Given the description of an element on the screen output the (x, y) to click on. 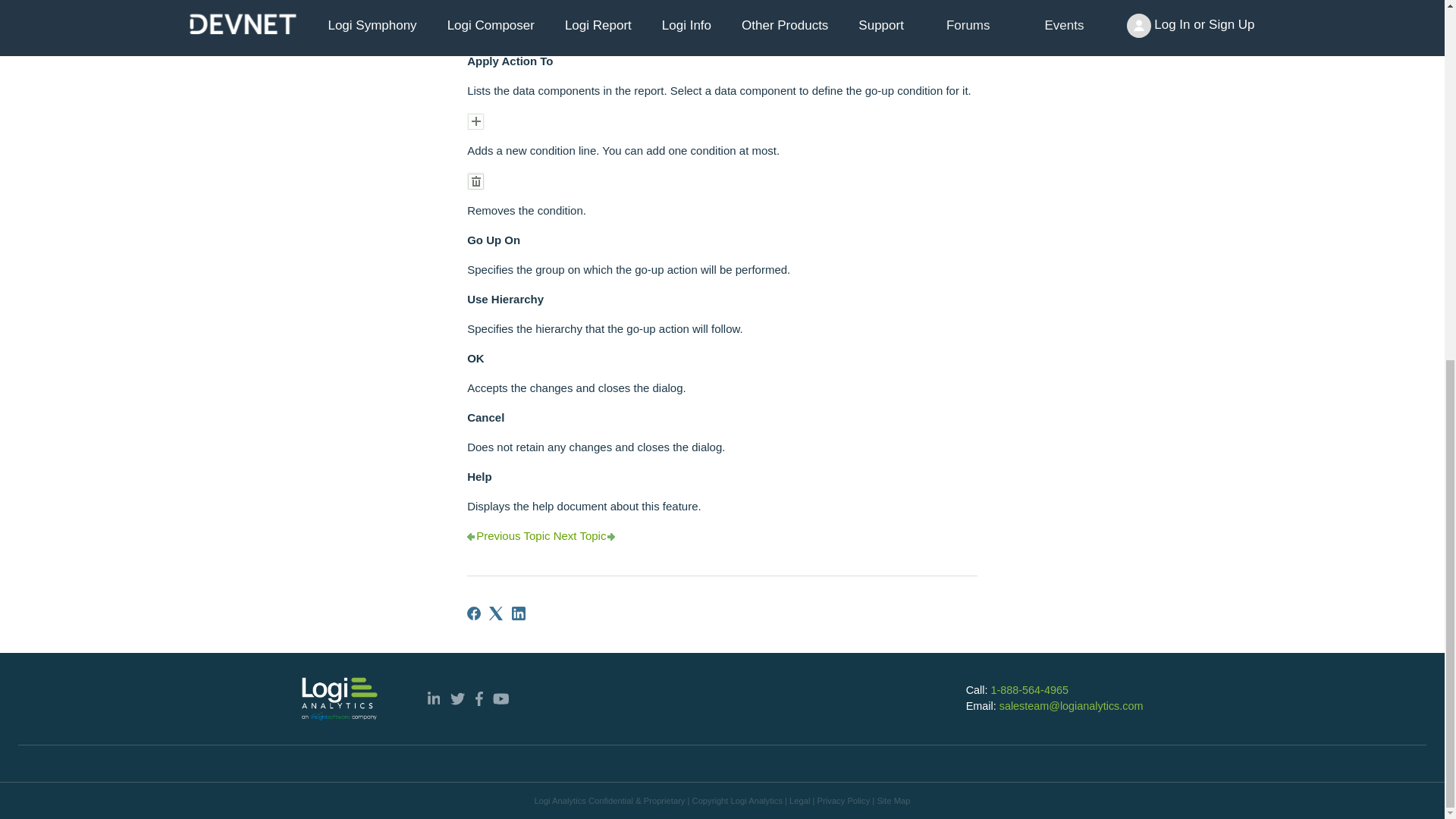
Find Logi Analytics on Twitter (456, 698)
Find Logi Analytics on YouTube (501, 698)
Go Up - Web Action Builder Dialog (373, 1)
